Given the description of an element on the screen output the (x, y) to click on. 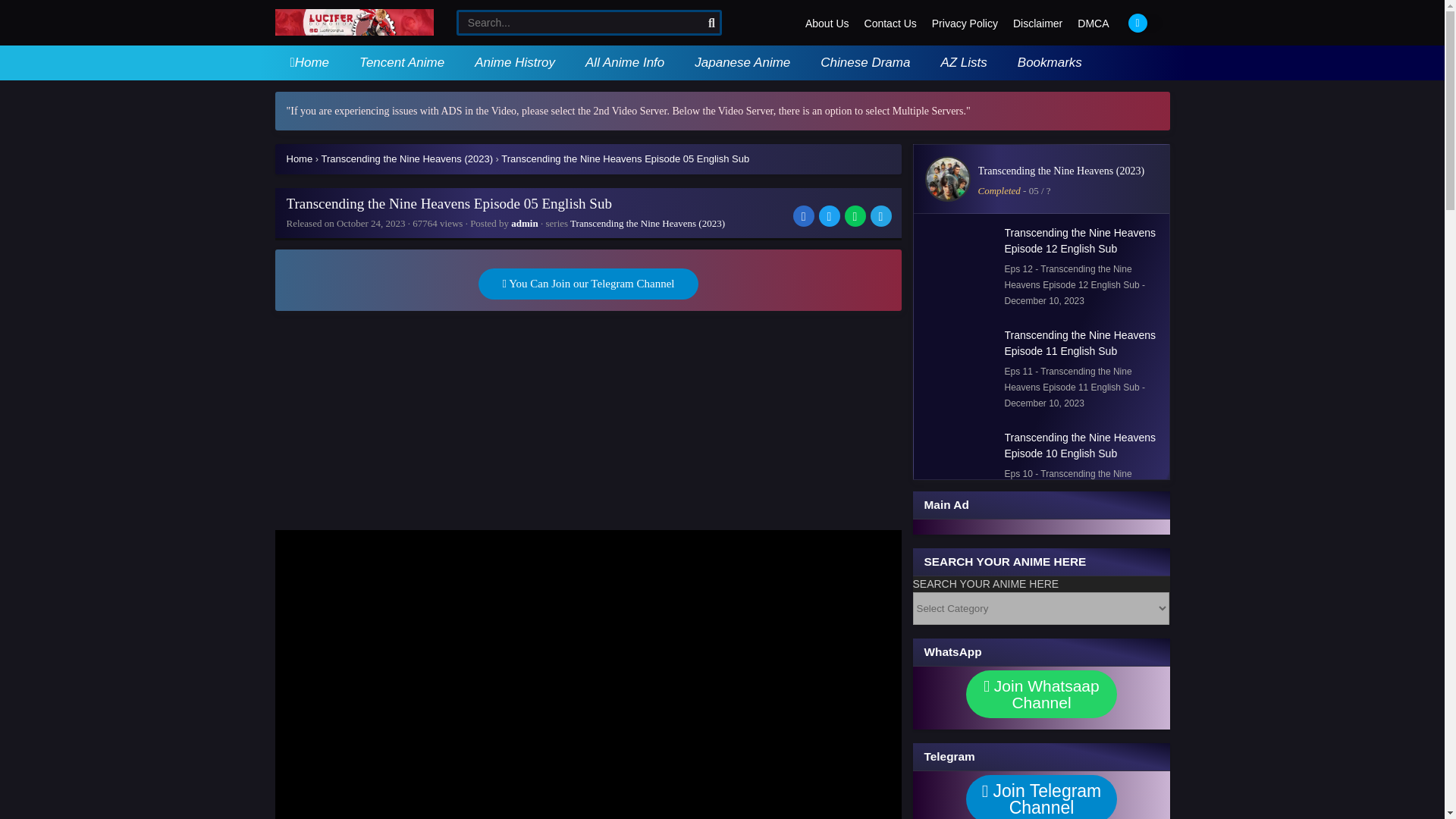
DMCA (1093, 23)
You Can Join our Telegram Channel (587, 283)
Bookmarks (1049, 62)
All Anime Info (624, 62)
Chinese Drama (864, 62)
Contact Us (890, 23)
Disclaimer (1038, 23)
Privacy Policy (965, 23)
Transcending the Nine Heavens Episode 05 English Sub (624, 158)
About Us (827, 23)
AZ Lists (963, 62)
admin (524, 222)
Anime Histroy (514, 62)
Tencent Anime (401, 62)
You Can Join our Telegram Channel (587, 283)
